Given the description of an element on the screen output the (x, y) to click on. 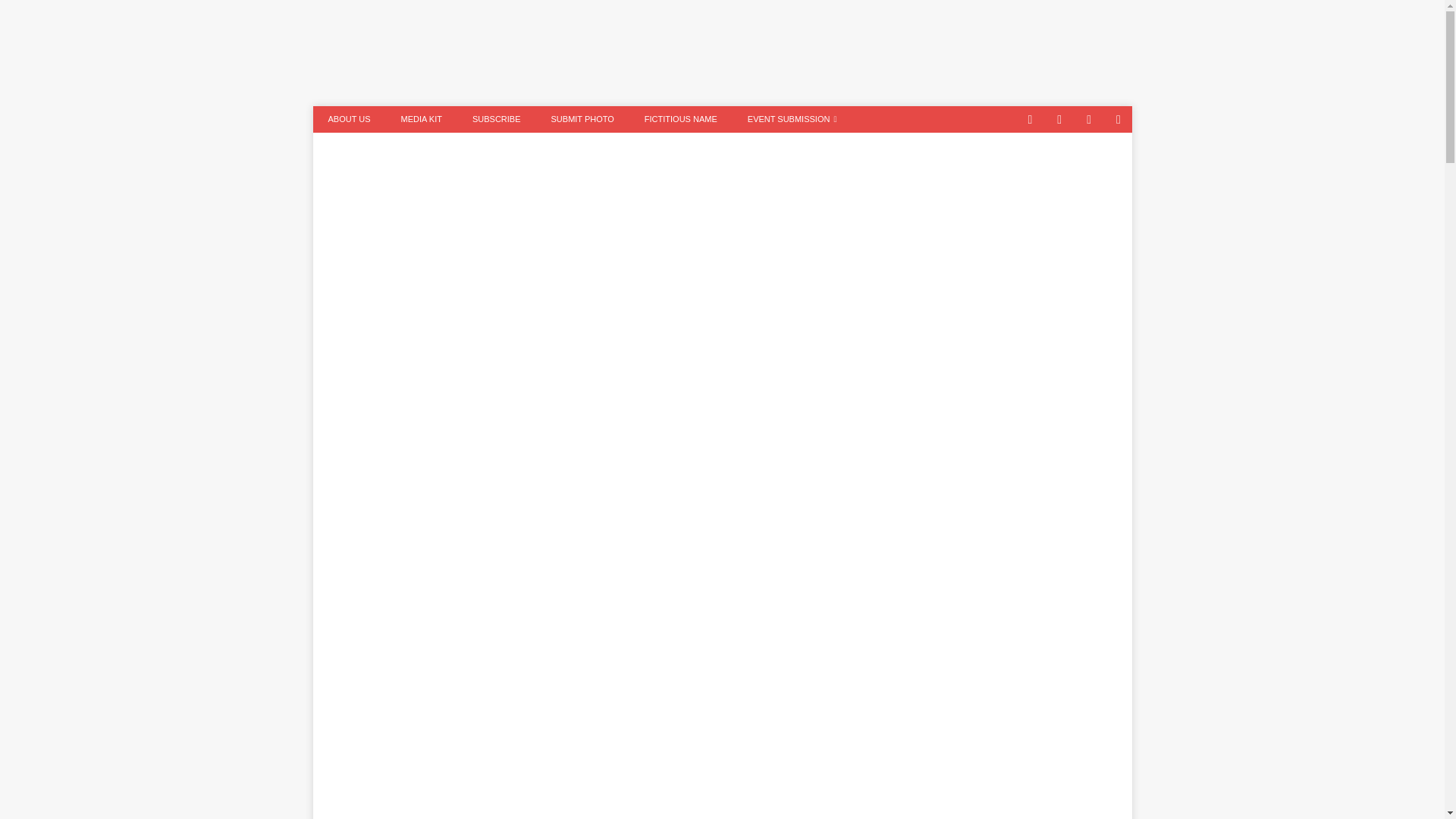
FICTITIOUS NAME (680, 119)
contact (1029, 119)
MEDIA KIT (421, 119)
SUBMIT PHOTO (581, 119)
ABOUT US (349, 119)
EVENT SUBMISSION (791, 119)
twitter (1059, 119)
Facebook (1088, 119)
rss (1118, 119)
SUBSCRIBE (496, 119)
